Given the description of an element on the screen output the (x, y) to click on. 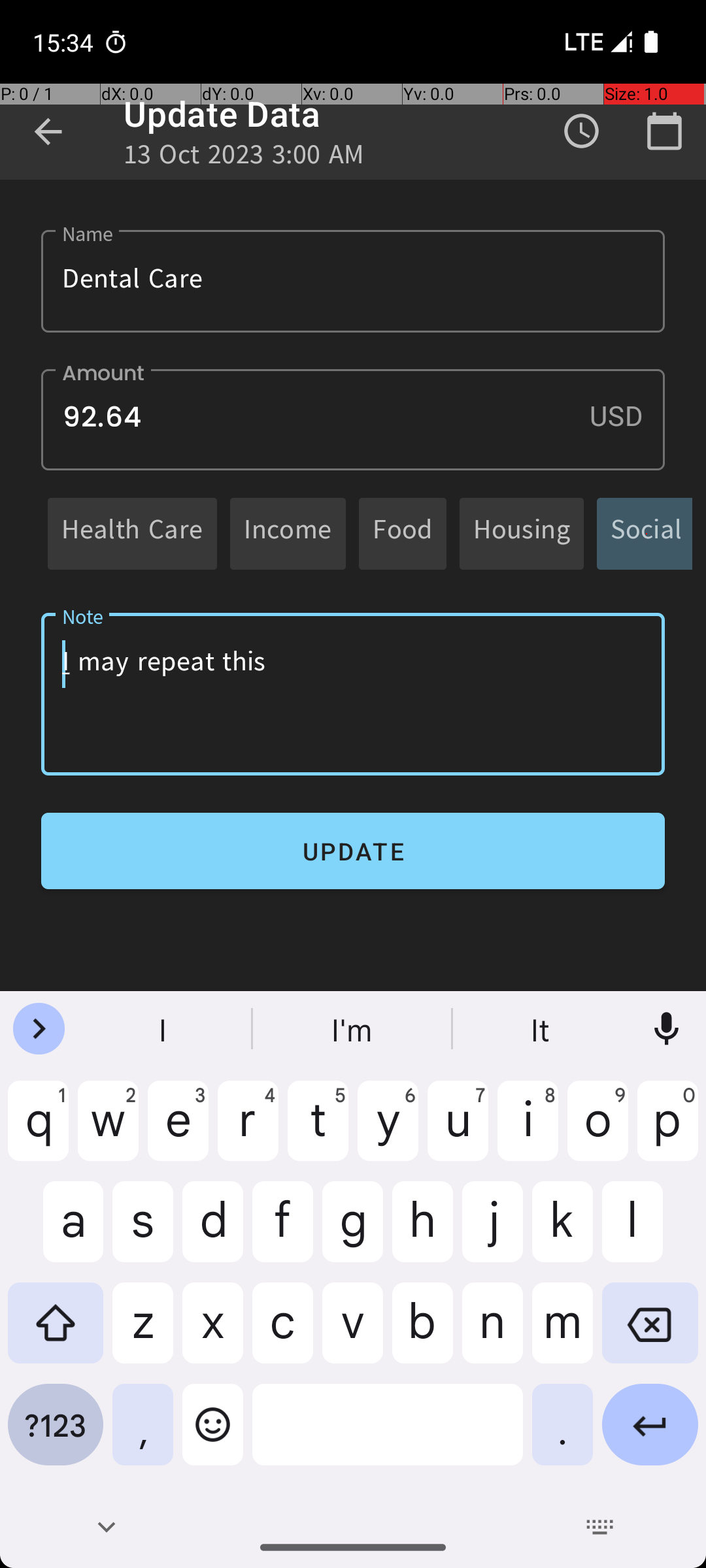
13 Oct 2023 3:00 AM Element type: android.widget.TextView (243, 157)
Dental Care Element type: android.widget.EditText (352, 280)
92.64 Element type: android.widget.EditText (352, 419)
Health Care Element type: android.widget.TextView (132, 533)
I'm Element type: android.widget.FrameLayout (352, 1028)
It Element type: android.widget.FrameLayout (541, 1028)
